Given the description of an element on the screen output the (x, y) to click on. 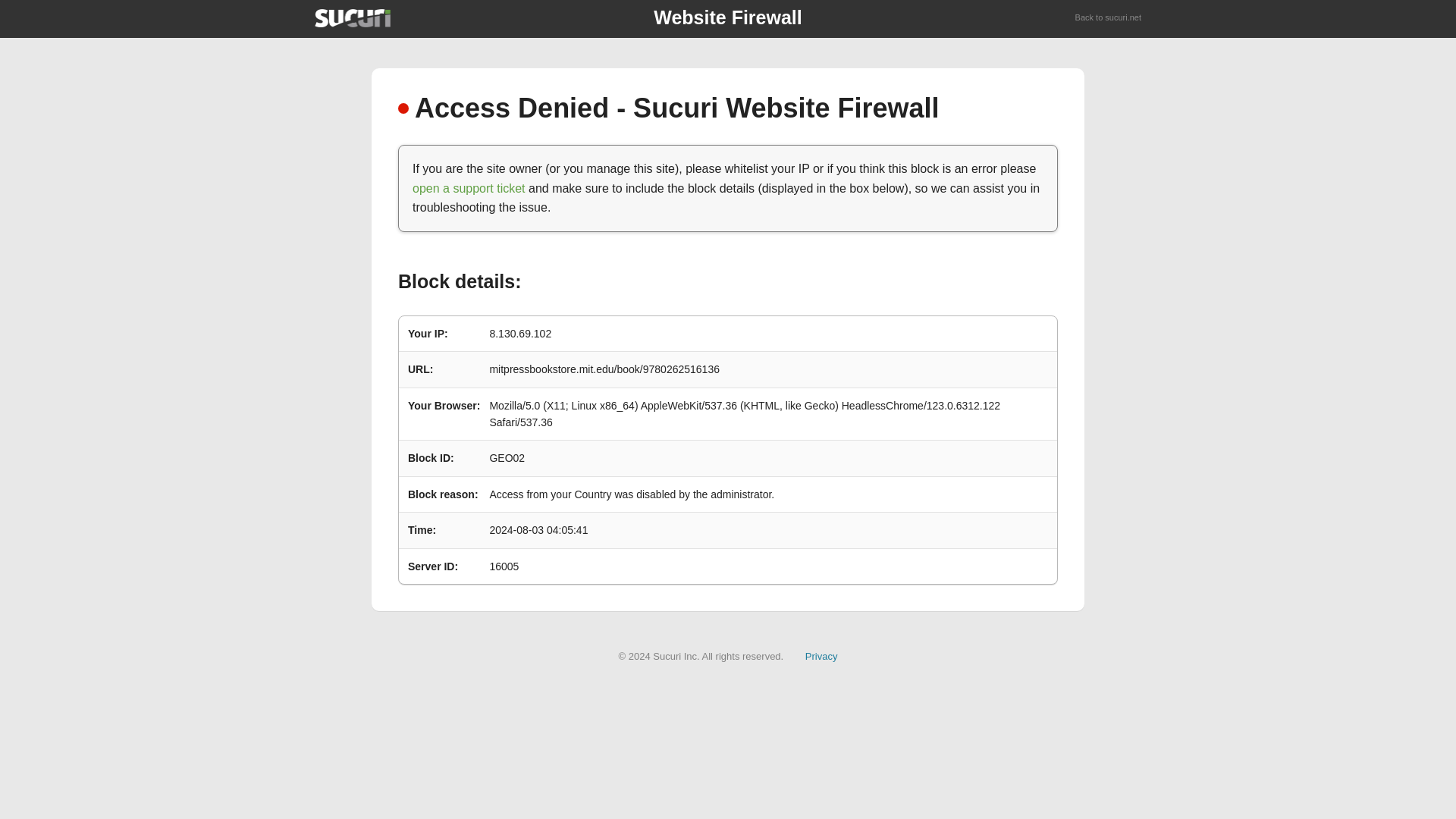
Privacy (821, 655)
Back to sucuri.net (1108, 18)
open a support ticket (468, 187)
